Given the description of an element on the screen output the (x, y) to click on. 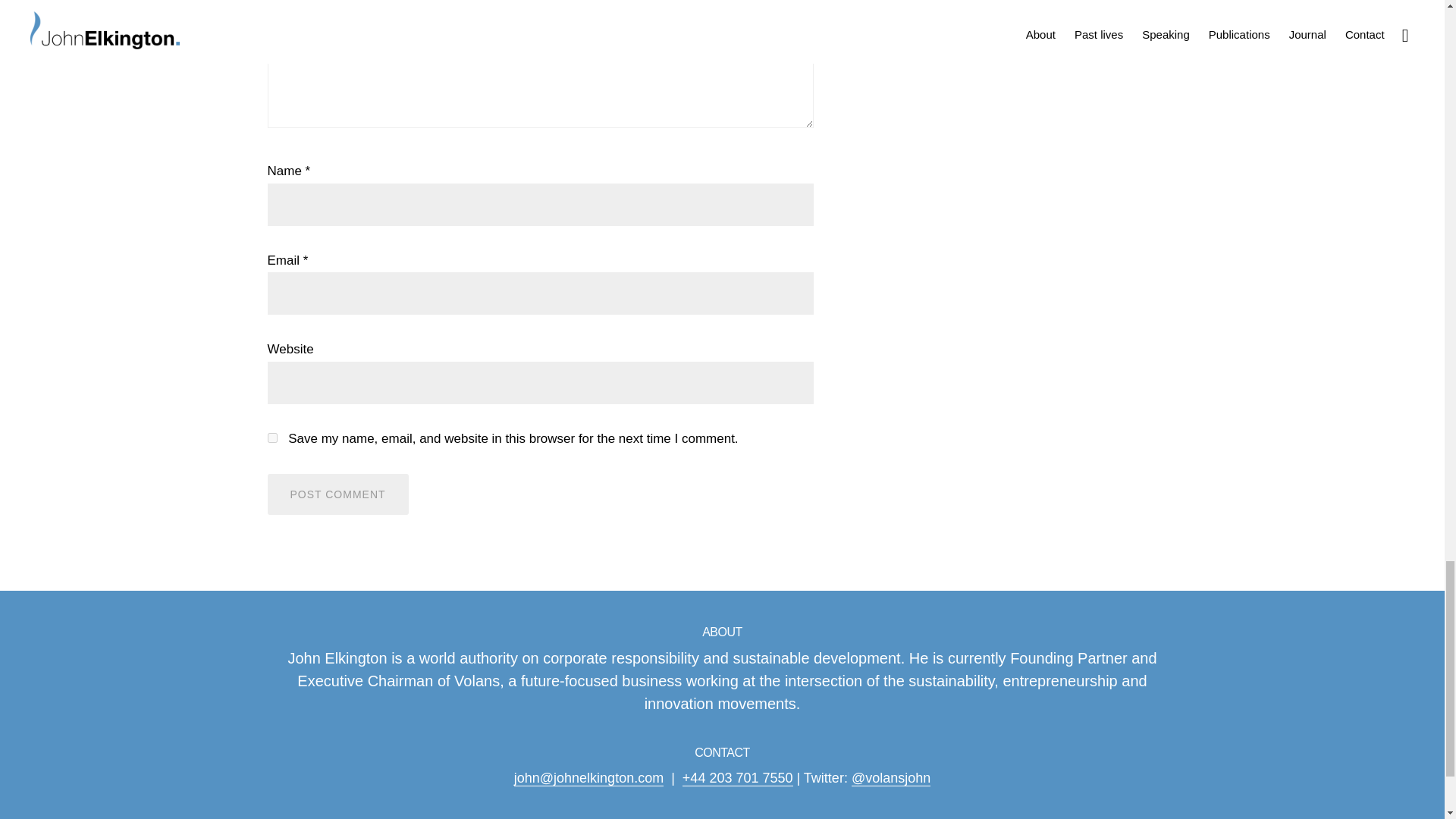
yes (271, 438)
Post Comment (336, 494)
